Given the description of an element on the screen output the (x, y) to click on. 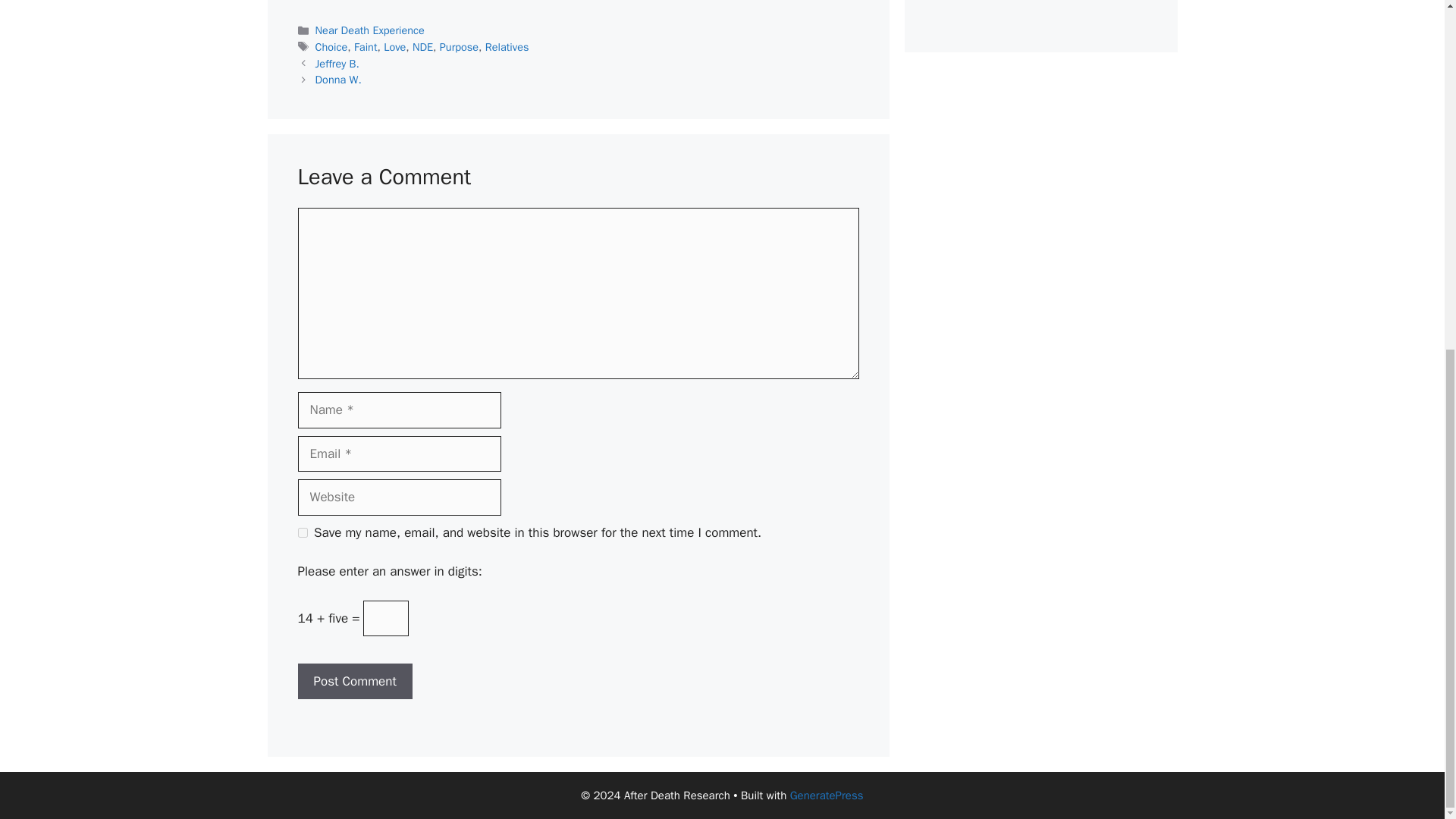
Love (395, 47)
Purpose (459, 47)
GeneratePress (826, 795)
Choice (331, 47)
Post Comment (354, 681)
yes (302, 532)
Donna W. (338, 79)
NDE (422, 47)
Jeffrey B. (337, 63)
Relatives (506, 47)
